Given the description of an element on the screen output the (x, y) to click on. 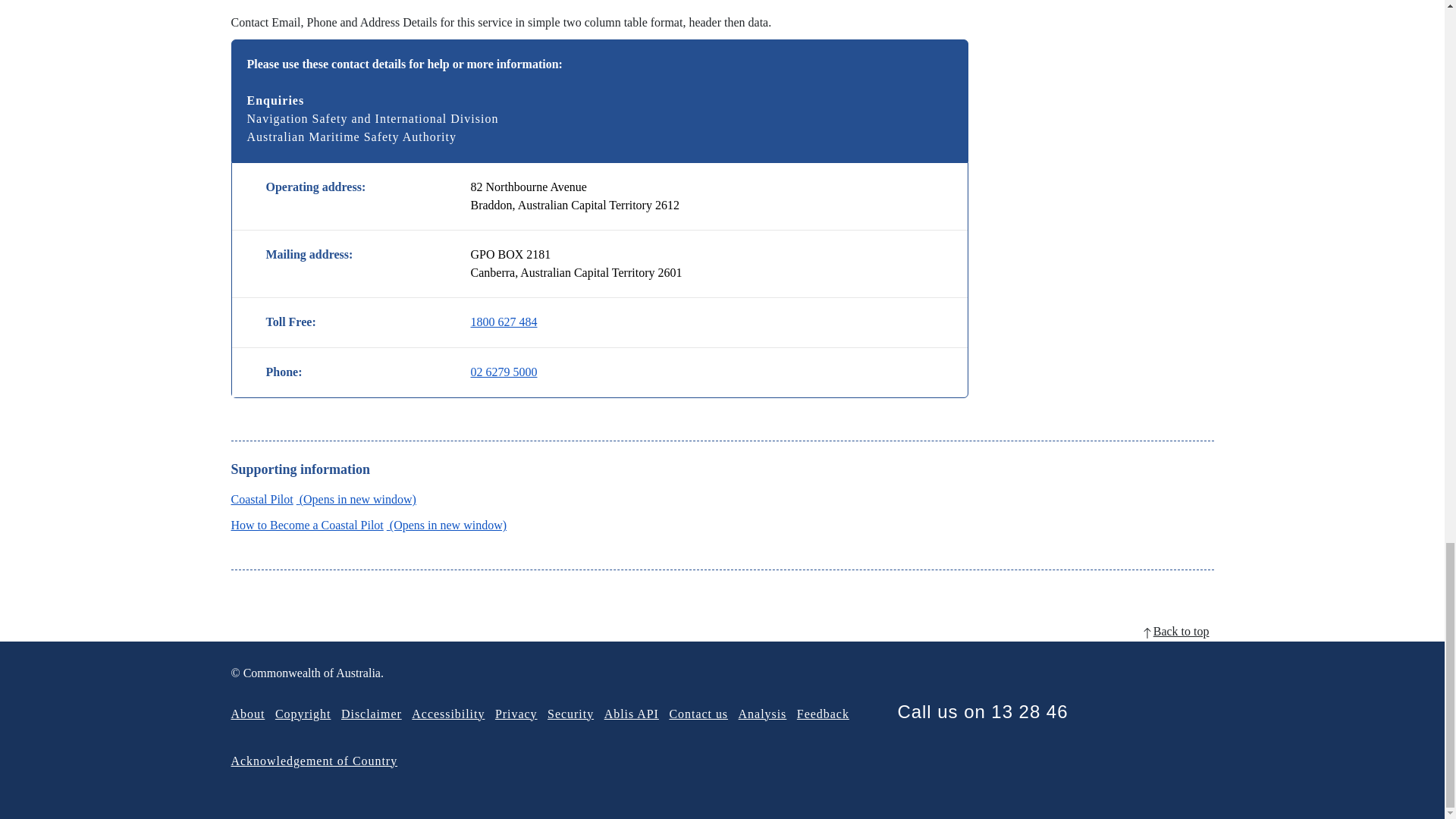
Call us on 13 28 46 (981, 711)
Ablis API (631, 713)
Disclaimer (370, 713)
Copyright (303, 713)
Analysis (762, 713)
02 6279 5000 (503, 372)
Privacy (516, 713)
Accessibility (448, 713)
Contact us (698, 713)
Resources for this service (322, 499)
Acknowledgement of Country (313, 760)
1800 627 484 (503, 321)
Feedback (822, 713)
About (247, 713)
